Given the description of an element on the screen output the (x, y) to click on. 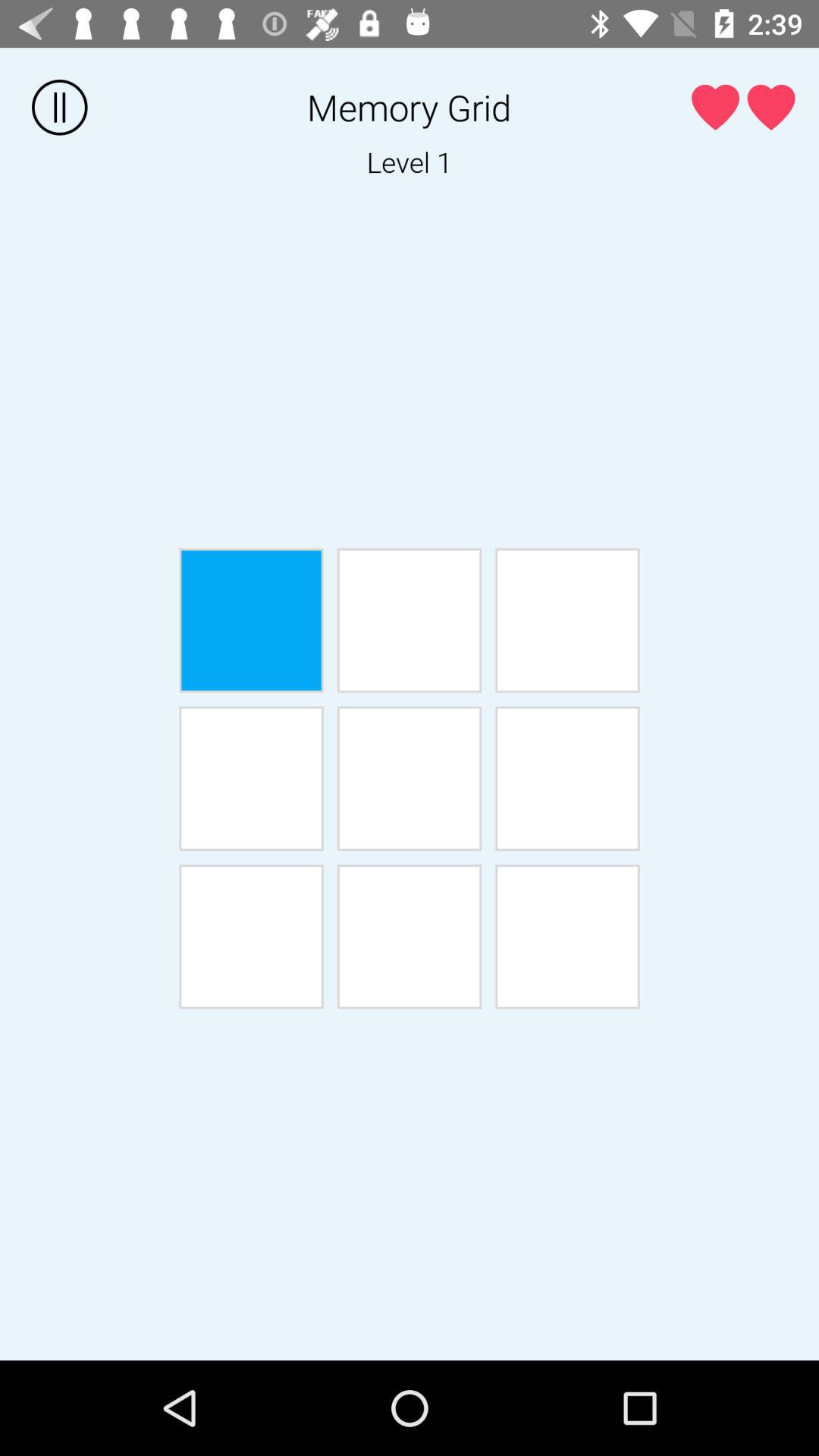
box (409, 620)
